Given the description of an element on the screen output the (x, y) to click on. 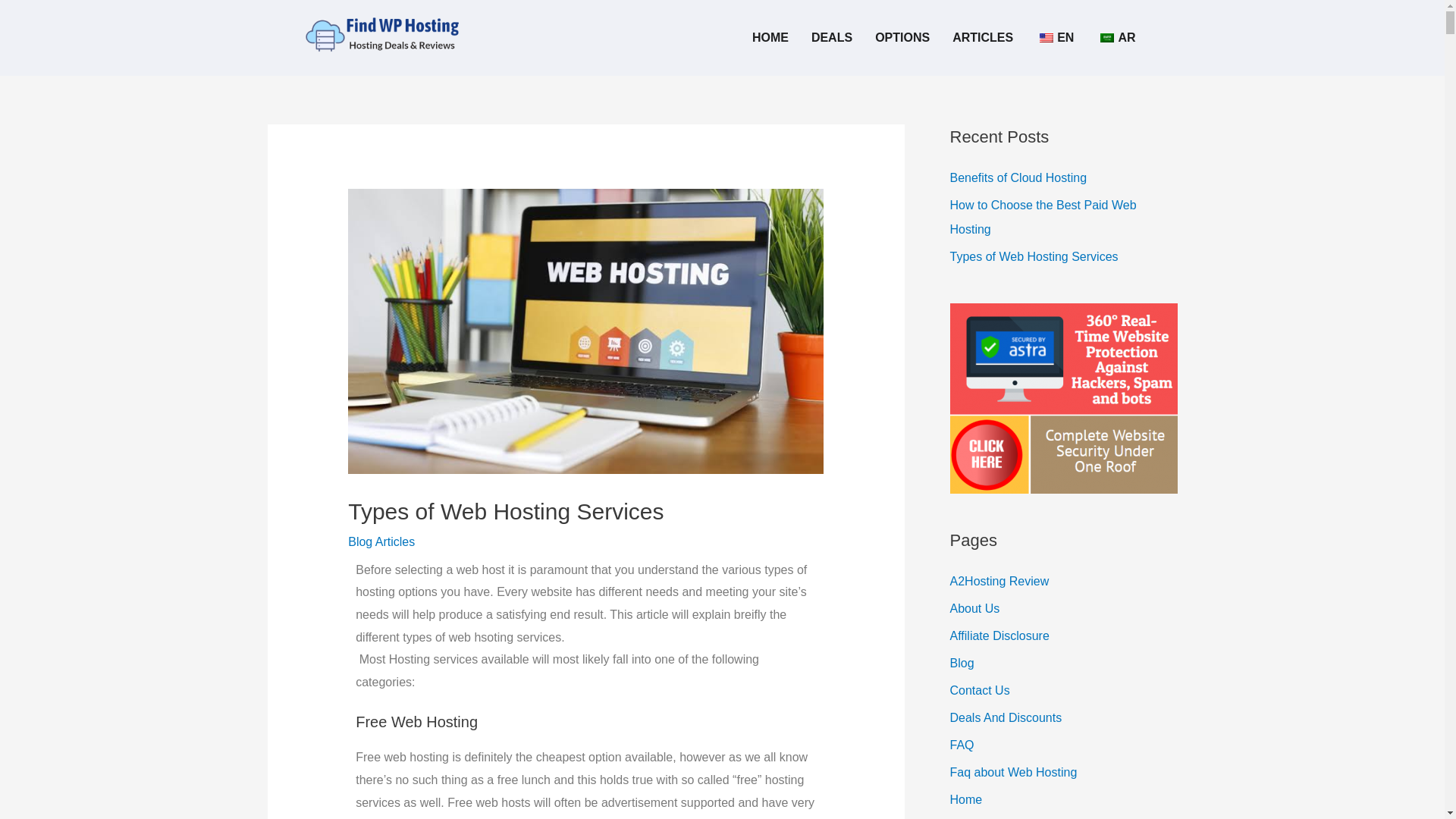
Blog Articles (380, 541)
AR (1115, 37)
HOME (770, 37)
English (1045, 37)
DEALS (831, 37)
EN (1054, 37)
OPTIONS (901, 37)
ARTICLES (982, 37)
